Given the description of an element on the screen output the (x, y) to click on. 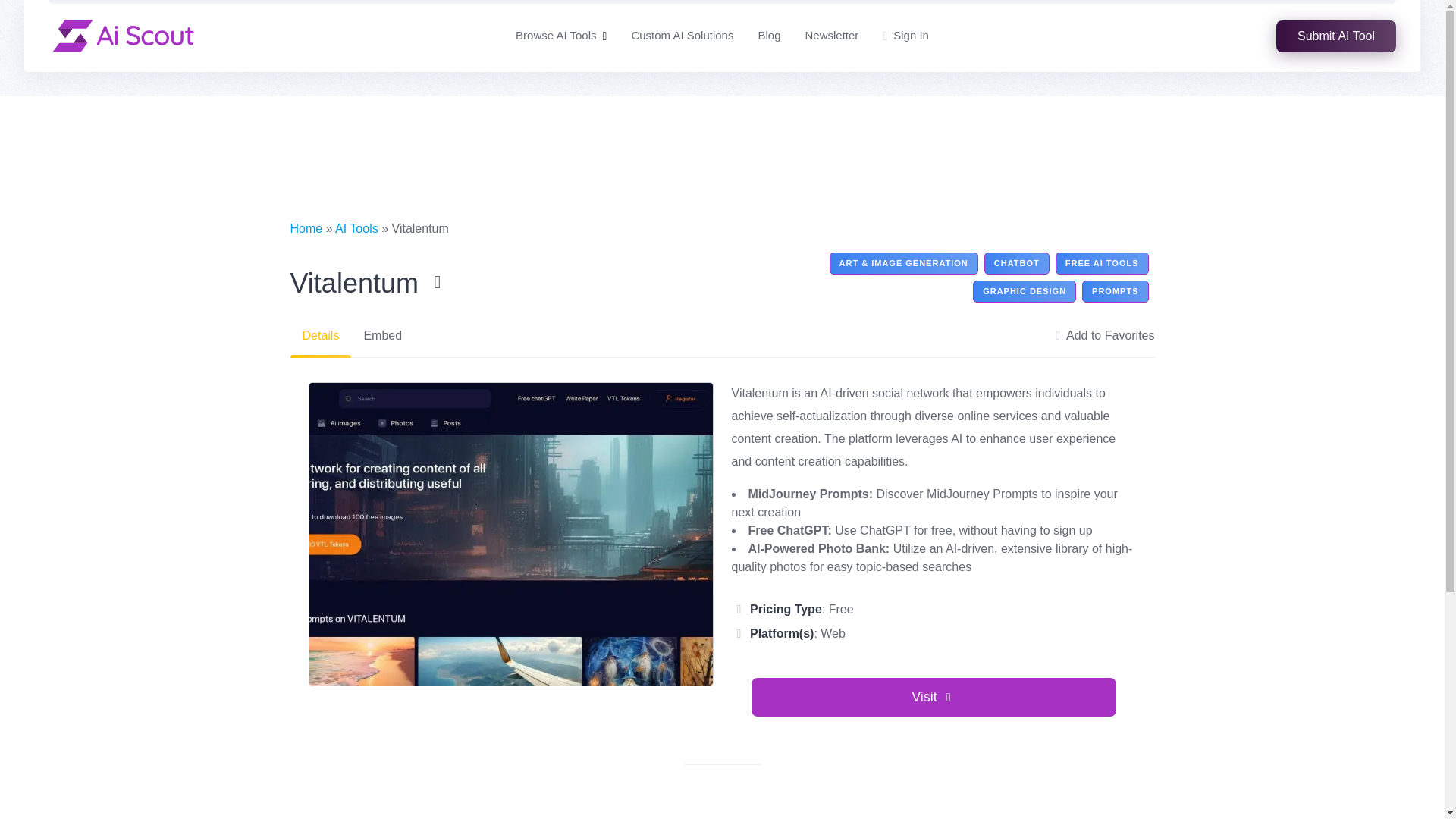
FREE AI TOOLS (1101, 263)
GRAPHIC DESIGN (1023, 291)
Details (320, 335)
Sign In (905, 36)
Browse AI Tools (555, 36)
Blog (768, 36)
Home (305, 228)
Embed (381, 335)
Custom AI Solutions (681, 36)
Submit AI Tool (1336, 35)
